Given the description of an element on the screen output the (x, y) to click on. 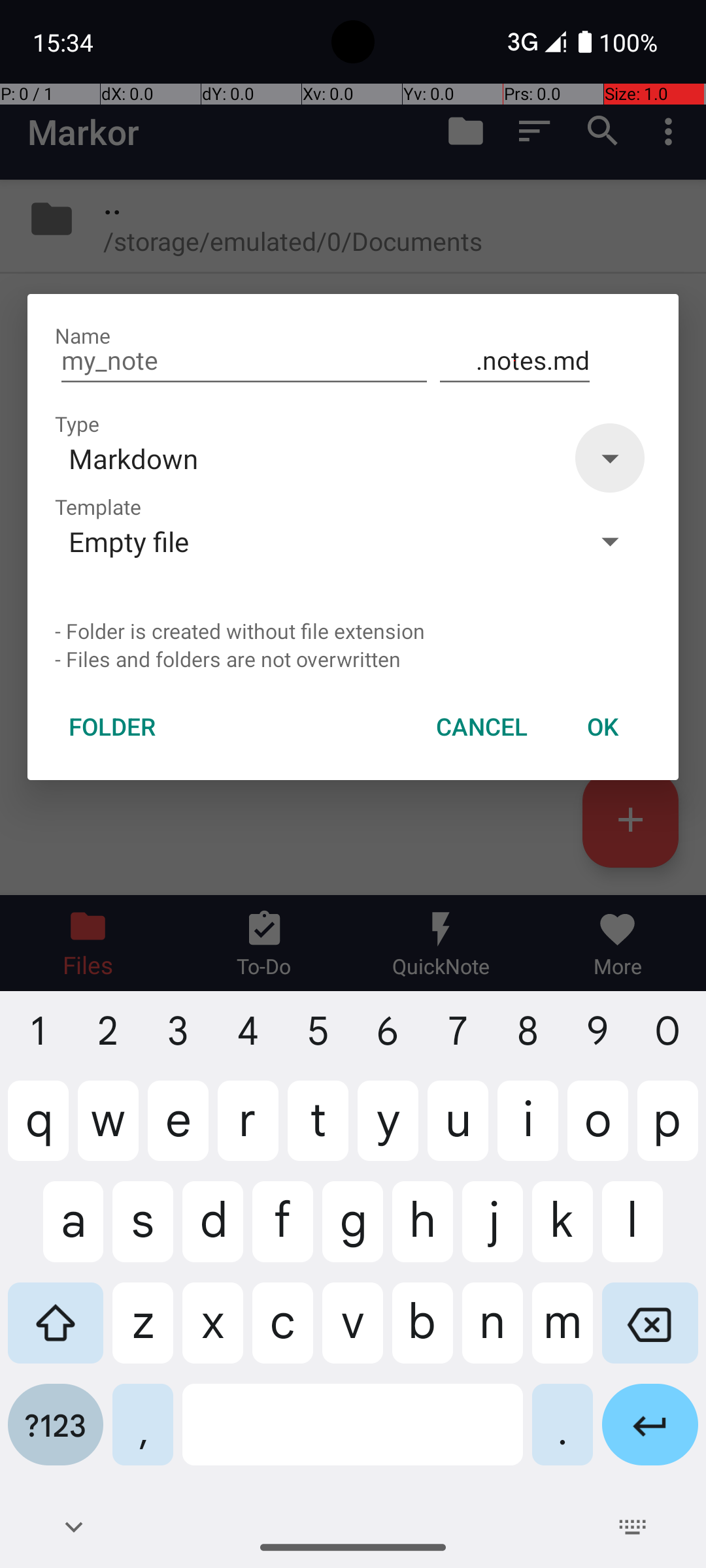
my_note Element type: android.widget.EditText (243, 360)
.notes.md Element type: android.widget.EditText (514, 360)
Type Element type: android.widget.TextView (76, 423)
Template Element type: android.widget.TextView (97, 506)
- Folder is created without file extension Element type: android.widget.TextView (352, 630)
- Files and folders are not overwritten Element type: android.widget.TextView (352, 658)
FOLDER Element type: android.widget.Button (111, 726)
Markdown Element type: android.widget.TextView (311, 457)
Empty file Element type: android.widget.TextView (311, 540)
